Given the description of an element on the screen output the (x, y) to click on. 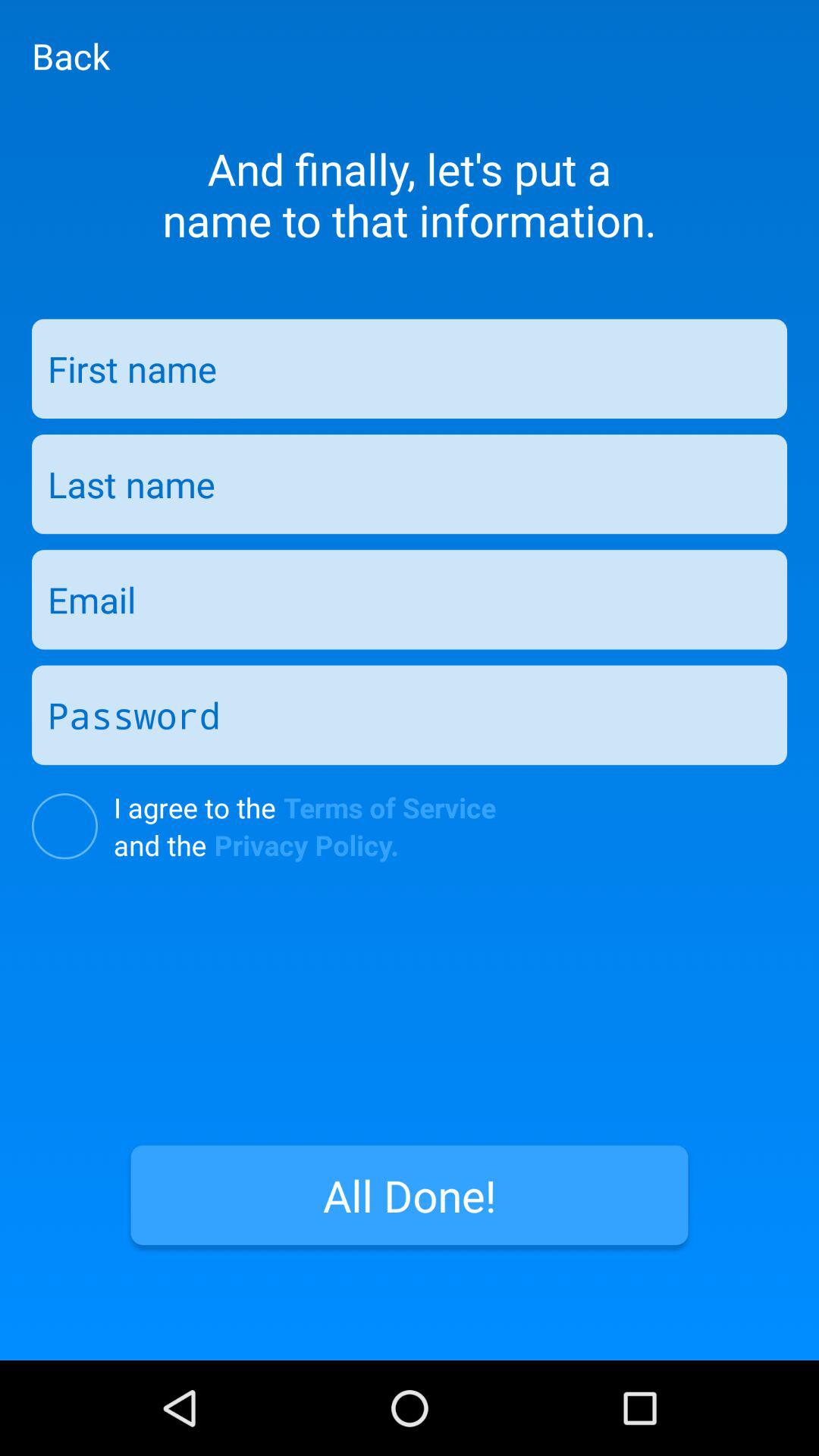
your email (409, 599)
